Given the description of an element on the screen output the (x, y) to click on. 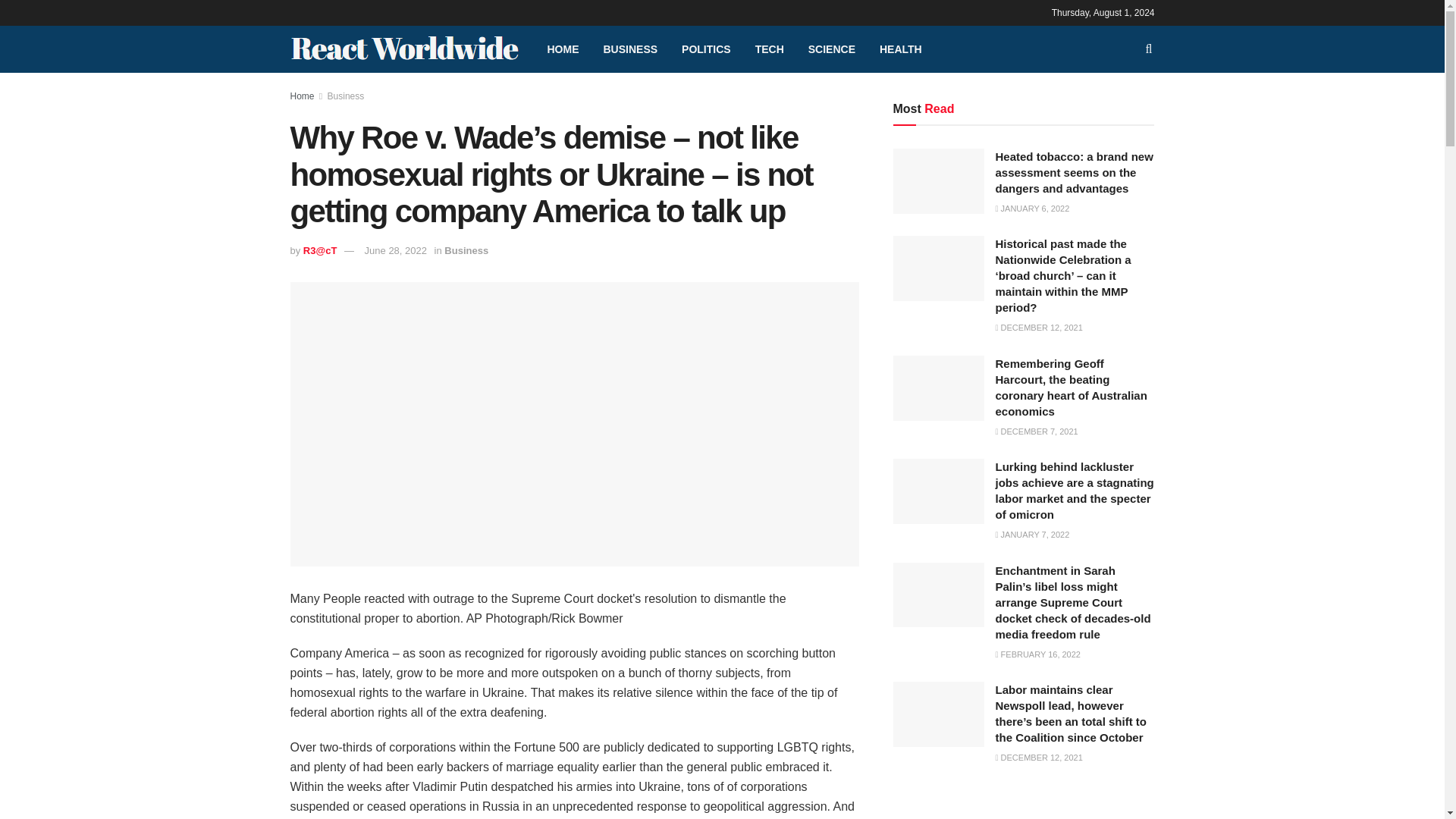
SCIENCE (831, 48)
TECH (769, 48)
Business (465, 250)
HEALTH (900, 48)
POLITICS (705, 48)
Business (346, 95)
Home (301, 95)
HOME (563, 48)
June 28, 2022 (395, 250)
BUSINESS (630, 48)
